Given the description of an element on the screen output the (x, y) to click on. 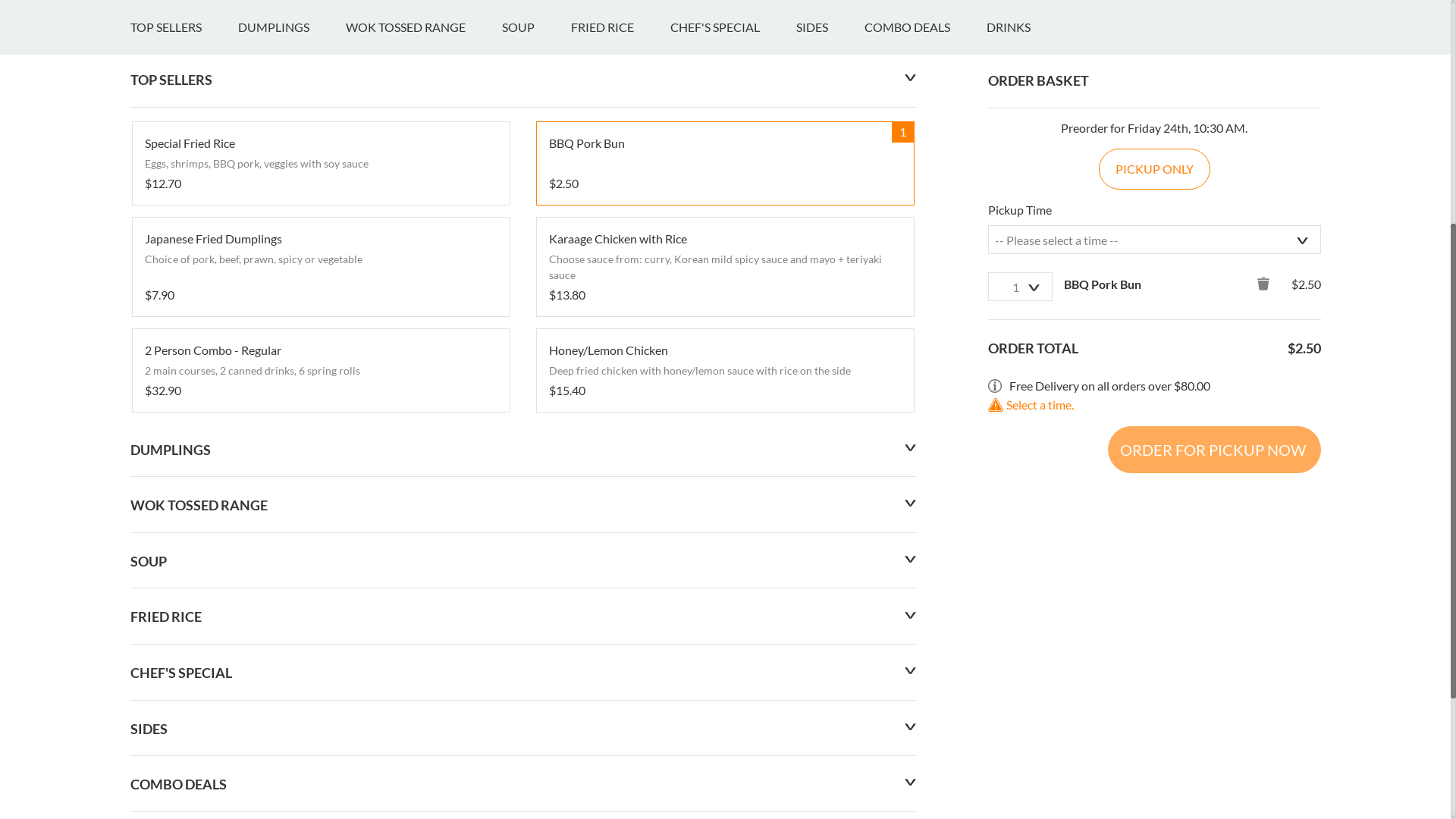
EN Element type: text (138, 16)
PICKUP ONLY Element type: text (1154, 556)
CHEF'S SPECIAL Element type: text (733, 414)
DUMPLINGS Element type: text (291, 414)
BBQ Pork Bun
$2.50 Element type: text (725, 550)
COMBO DEALS Element type: text (925, 414)
3.4 Element type: text (146, 278)
SOUP Element type: text (536, 414)
Noodle & Dumpling - Coomera Element type: text (311, 223)
DRINKS Element type: text (1025, 414)
BBQ Pork Bun
$2.50
1 Element type: text (725, 550)
SIDES Element type: text (830, 414)
TOP SELLERS Element type: text (184, 414)
WOK TOSSED RANGE Element type: text (423, 414)
FRIED RICE Element type: text (619, 414)
